Given the description of an element on the screen output the (x, y) to click on. 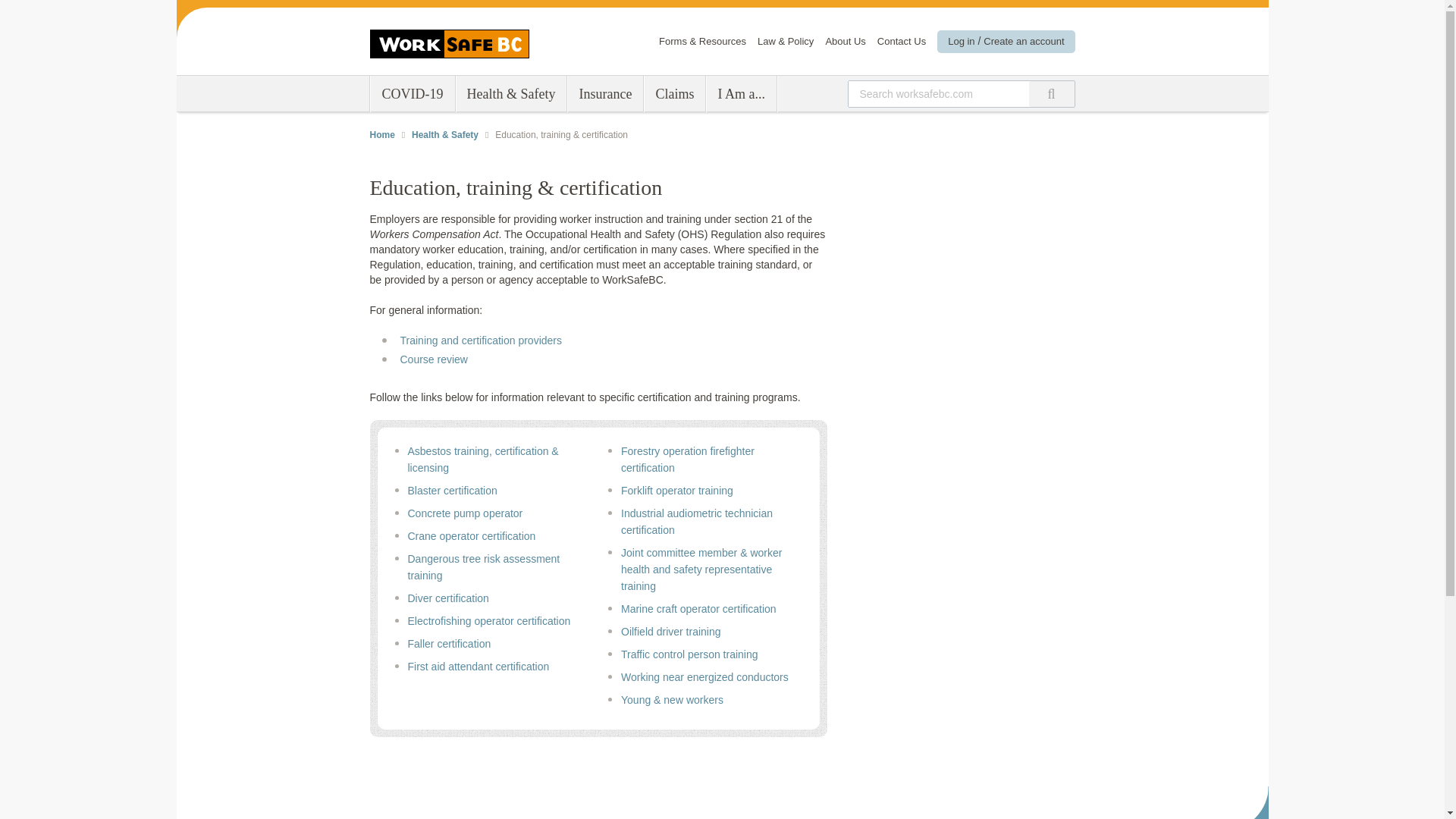
Create an account (1024, 41)
COVID-19 (411, 94)
Insurance (605, 94)
Contact Us (901, 41)
About Us (844, 41)
Log in (960, 41)
Claims (673, 94)
